Given the description of an element on the screen output the (x, y) to click on. 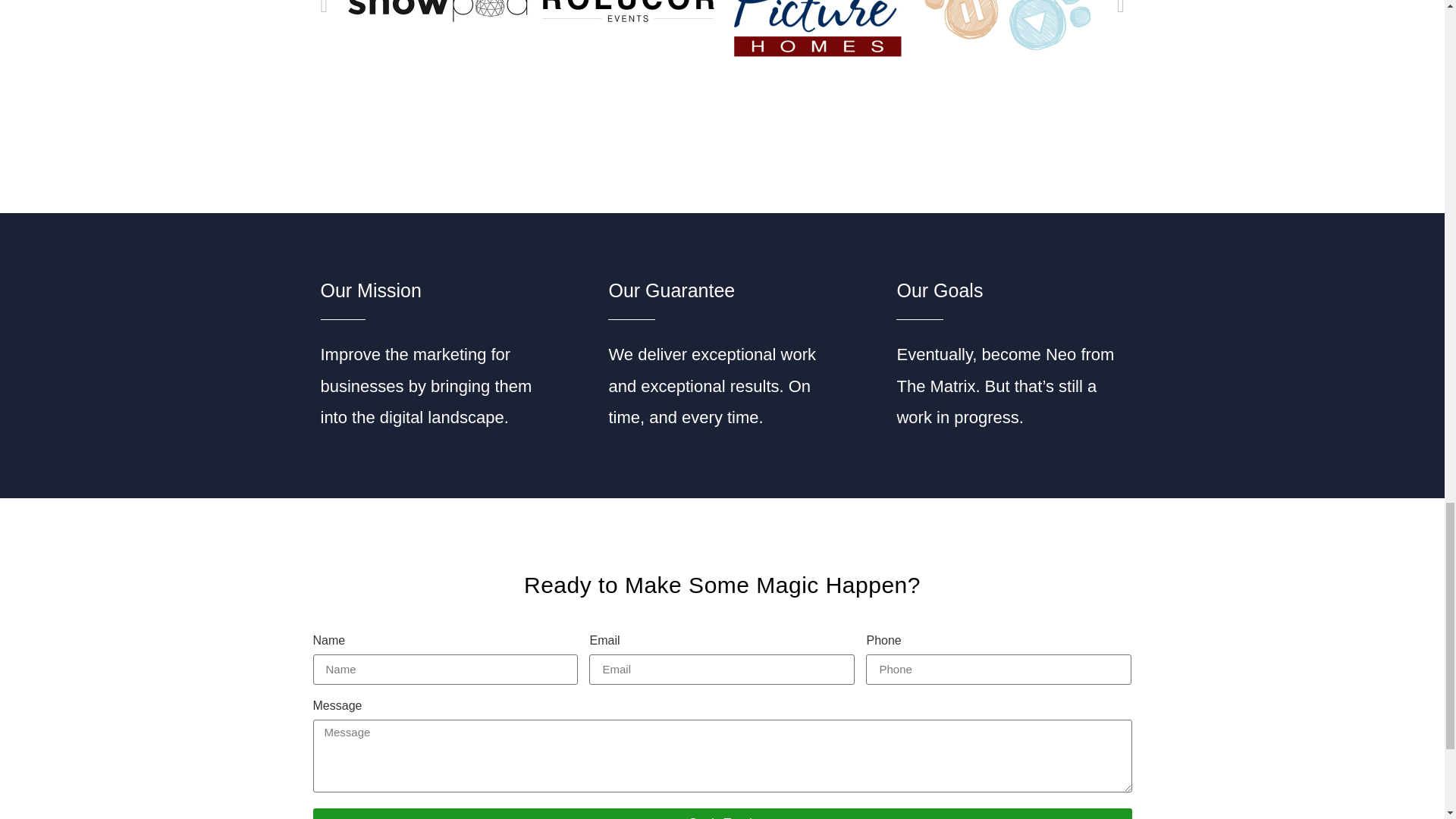
Get in Touch (722, 813)
